Given the description of an element on the screen output the (x, y) to click on. 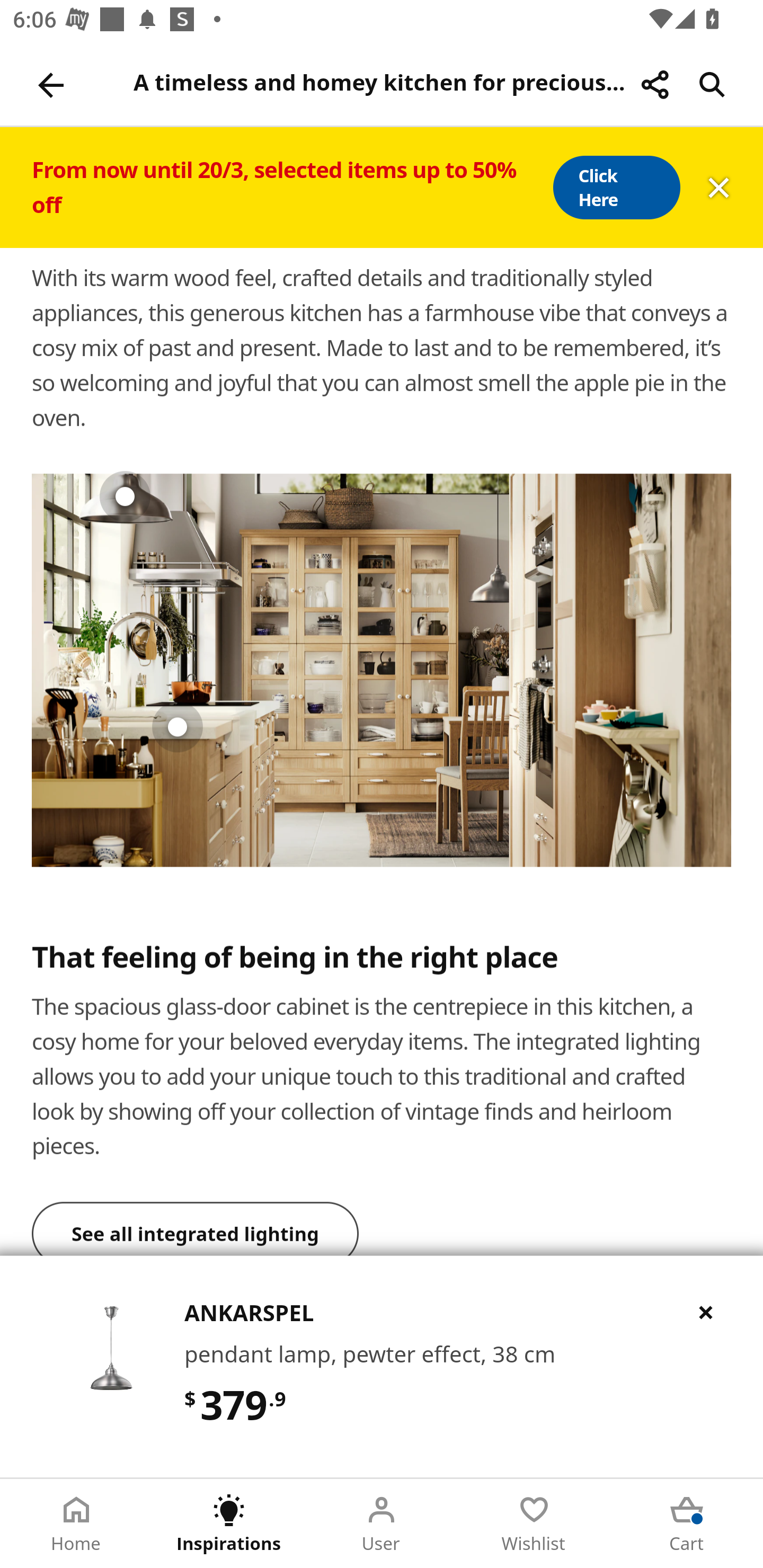
Click Here (615, 187)
See all integrated lighting (195, 1229)
Home
Tab 1 of 5 (76, 1522)
Inspirations
Tab 2 of 5 (228, 1522)
User
Tab 3 of 5 (381, 1522)
Wishlist
Tab 4 of 5 (533, 1522)
Cart
Tab 5 of 5 (686, 1522)
